Given the description of an element on the screen output the (x, y) to click on. 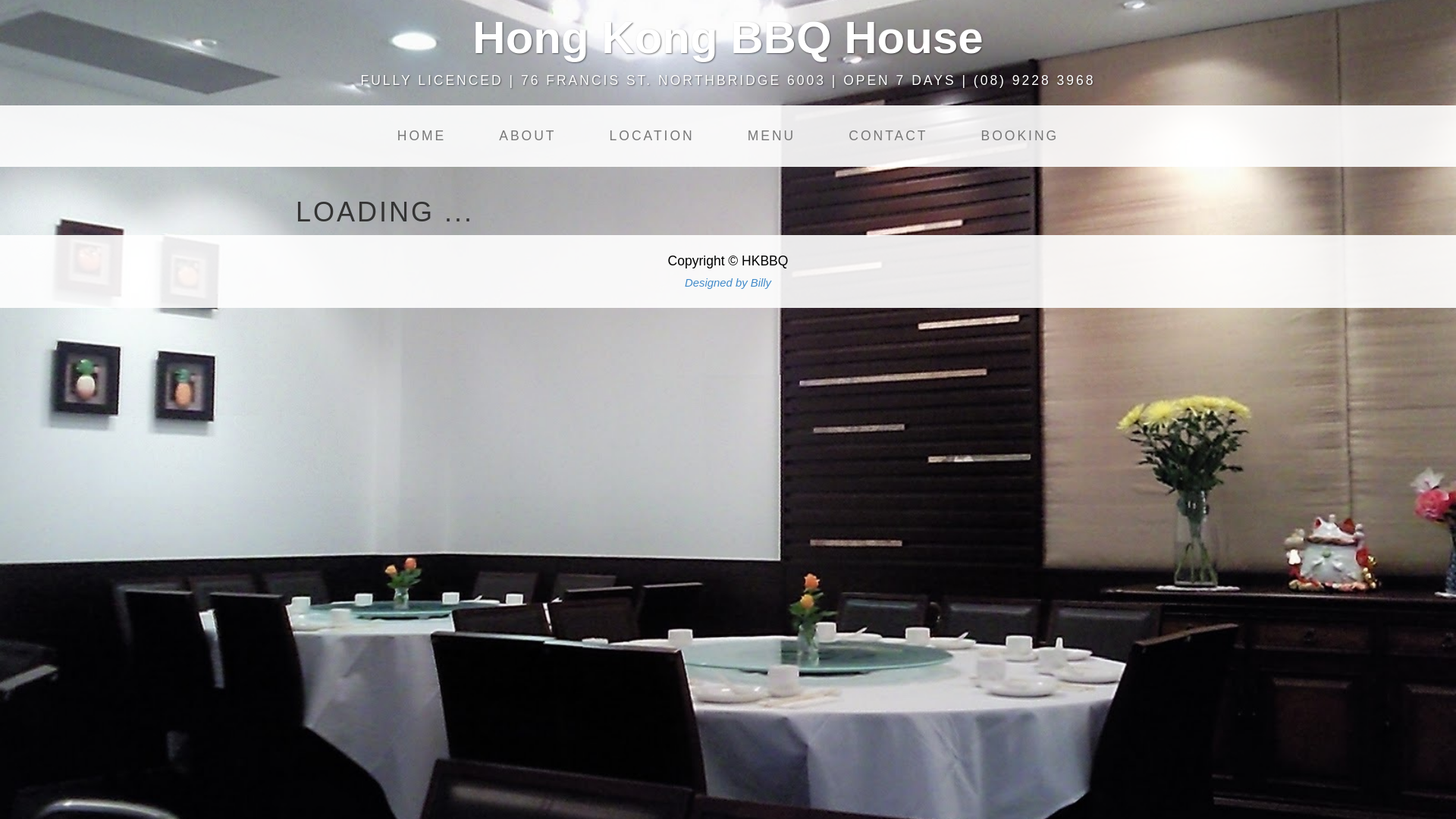
Designed by Billy Element type: text (727, 282)
HOME Element type: text (421, 135)
Hong Kong BBQ House Element type: text (727, 37)
CONTACT Element type: text (887, 135)
ABOUT Element type: text (527, 135)
BOOKING Element type: text (1019, 135)
MENU Element type: text (771, 135)
LOCATION Element type: text (652, 135)
